Given the description of an element on the screen output the (x, y) to click on. 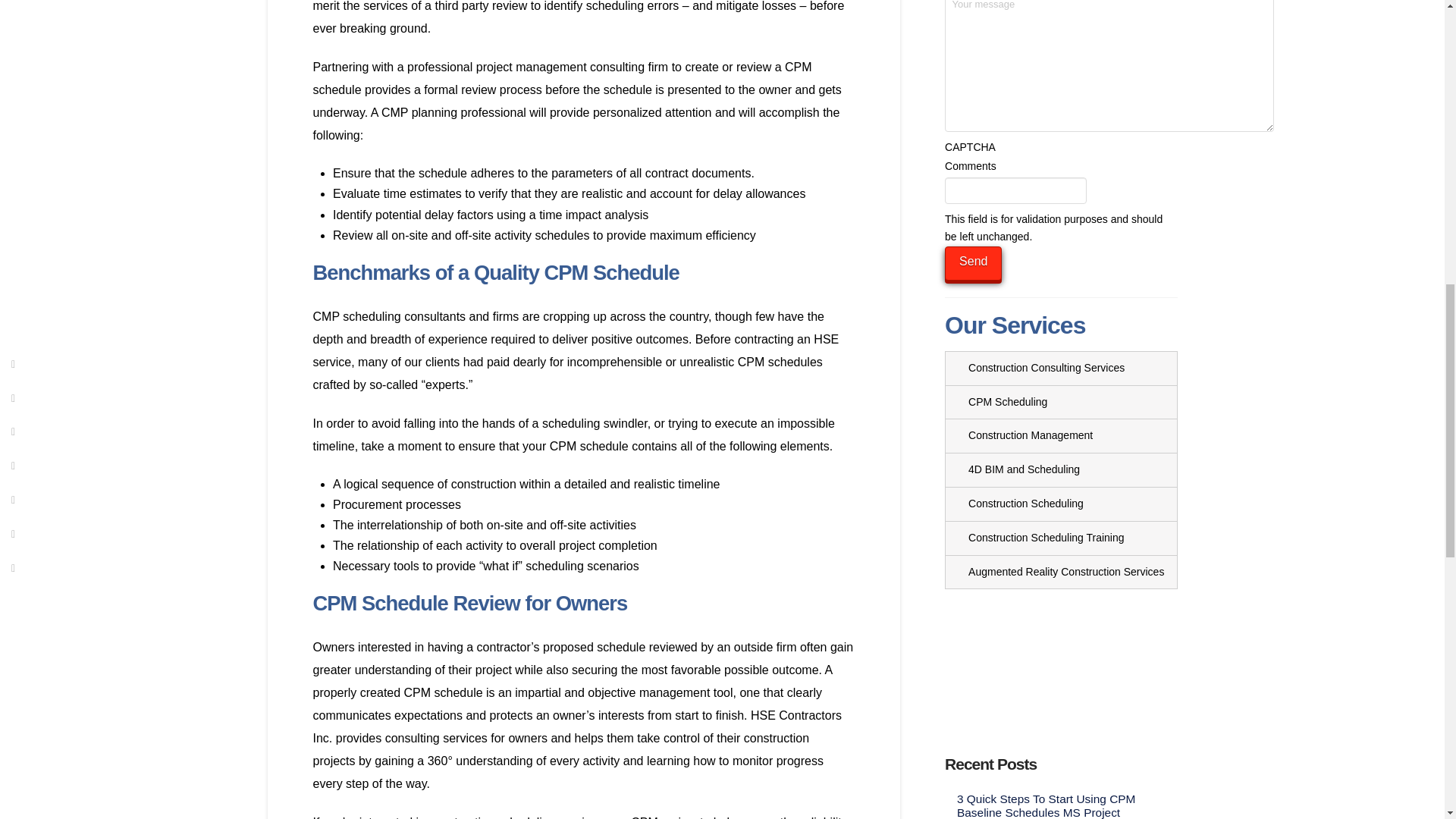
Send (972, 263)
